Given the description of an element on the screen output the (x, y) to click on. 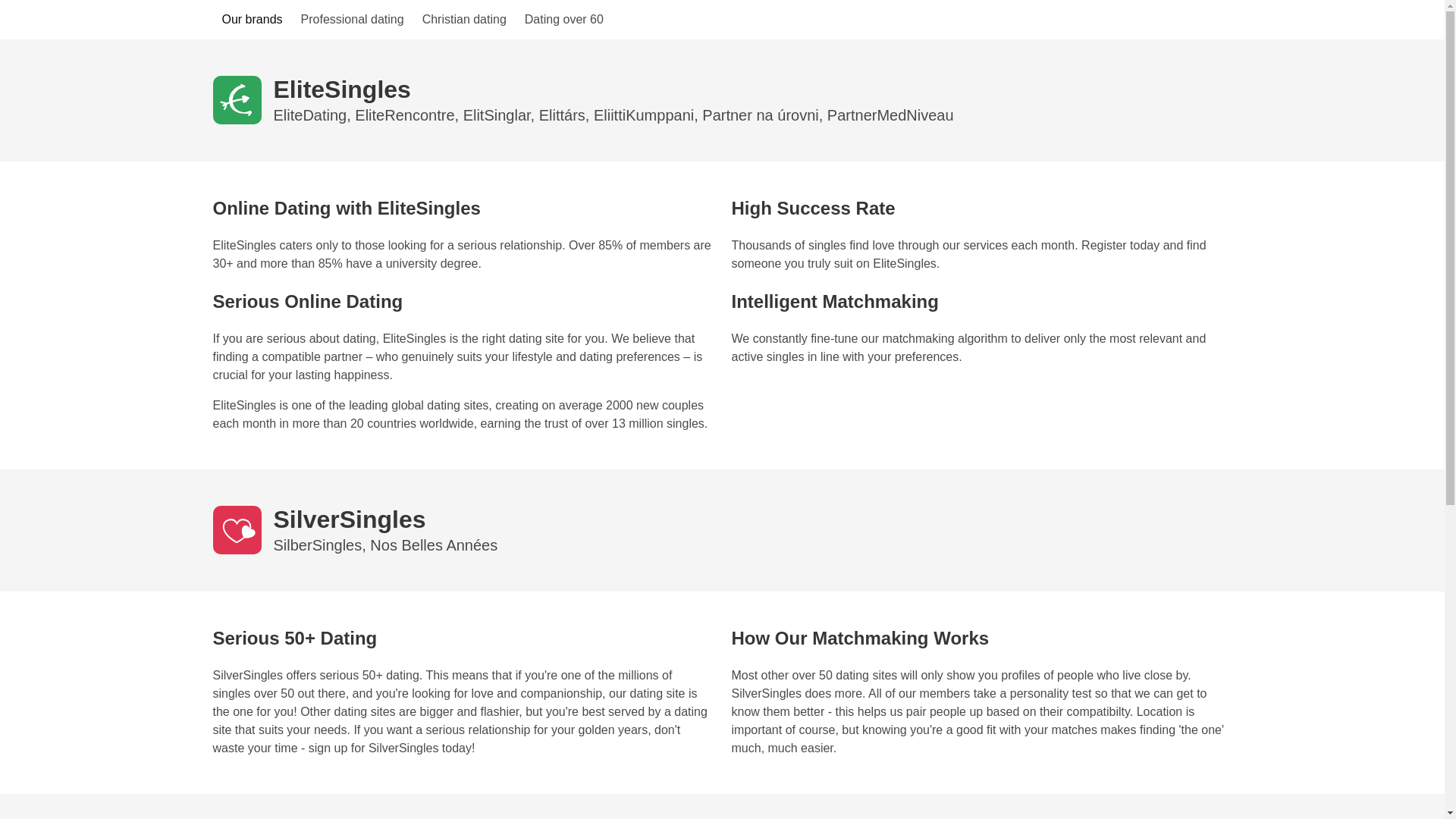
Our brands (251, 19)
Dating over 60 (563, 19)
Christian dating (464, 19)
Professional dating (352, 19)
